Given the description of an element on the screen output the (x, y) to click on. 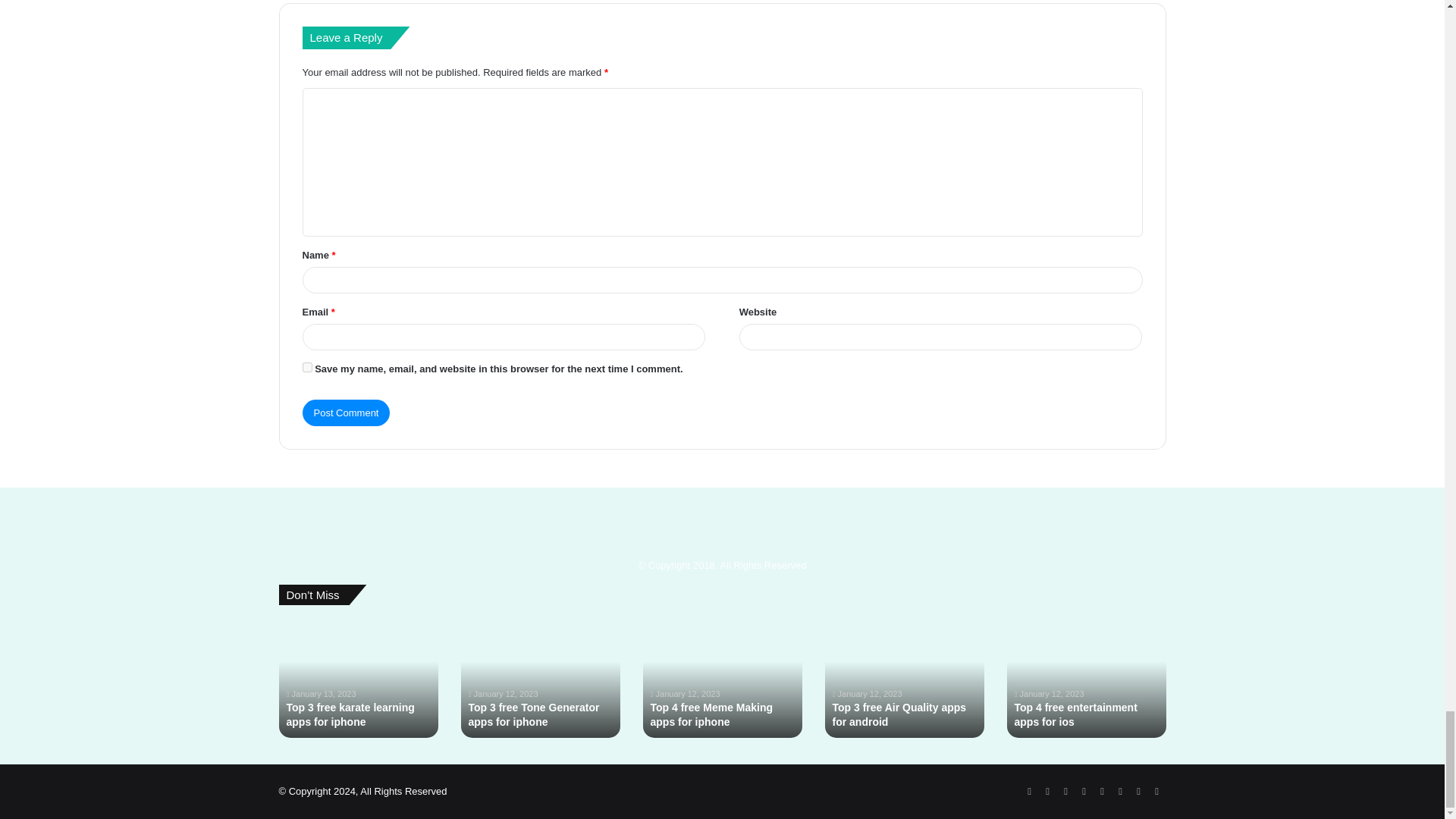
yes (306, 367)
Post Comment (345, 412)
